Given the description of an element on the screen output the (x, y) to click on. 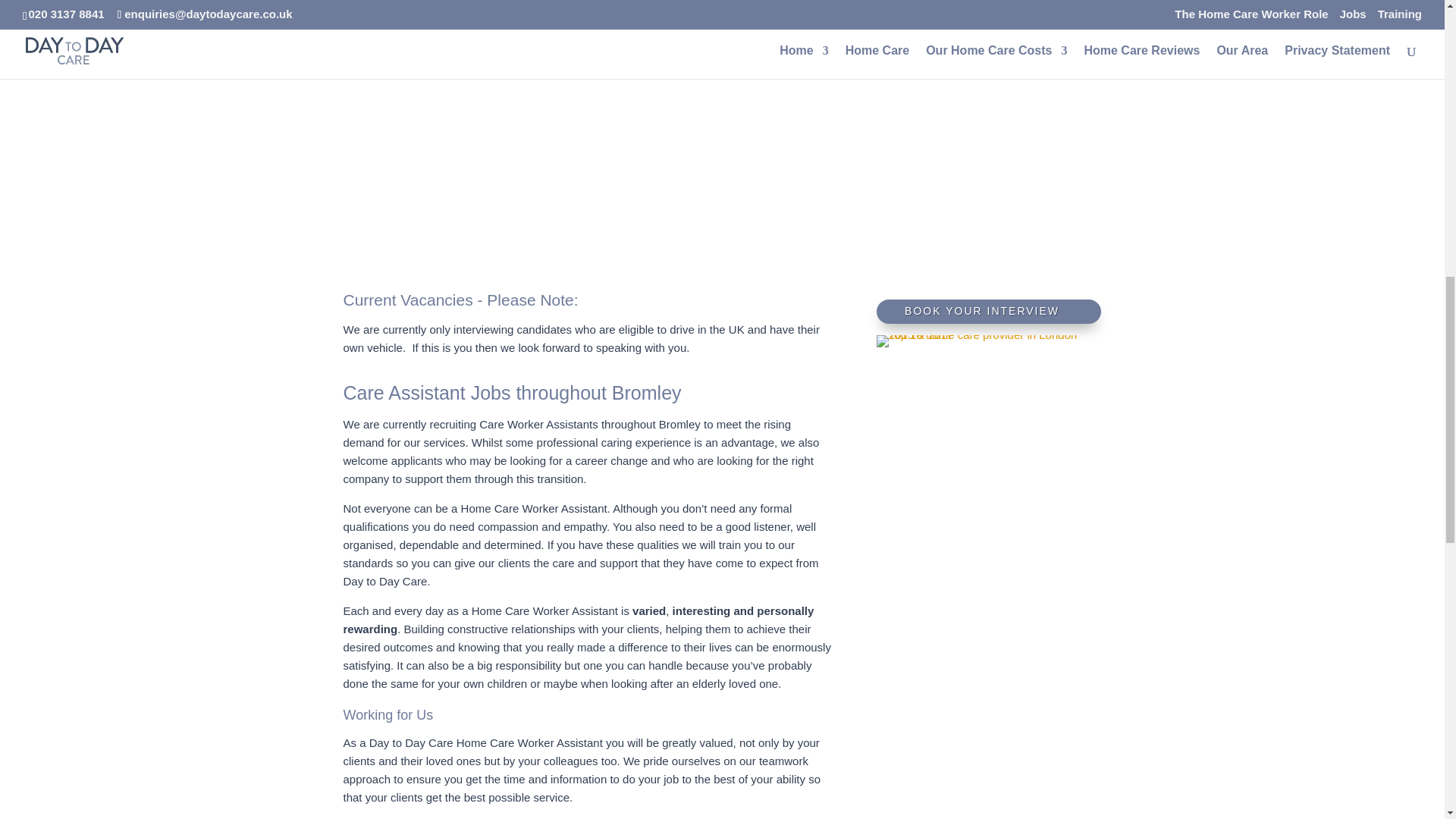
Day to Day Care Good CQC Rating (989, 460)
BOOK YOUR INTERVIEW (989, 311)
